Given the description of an element on the screen output the (x, y) to click on. 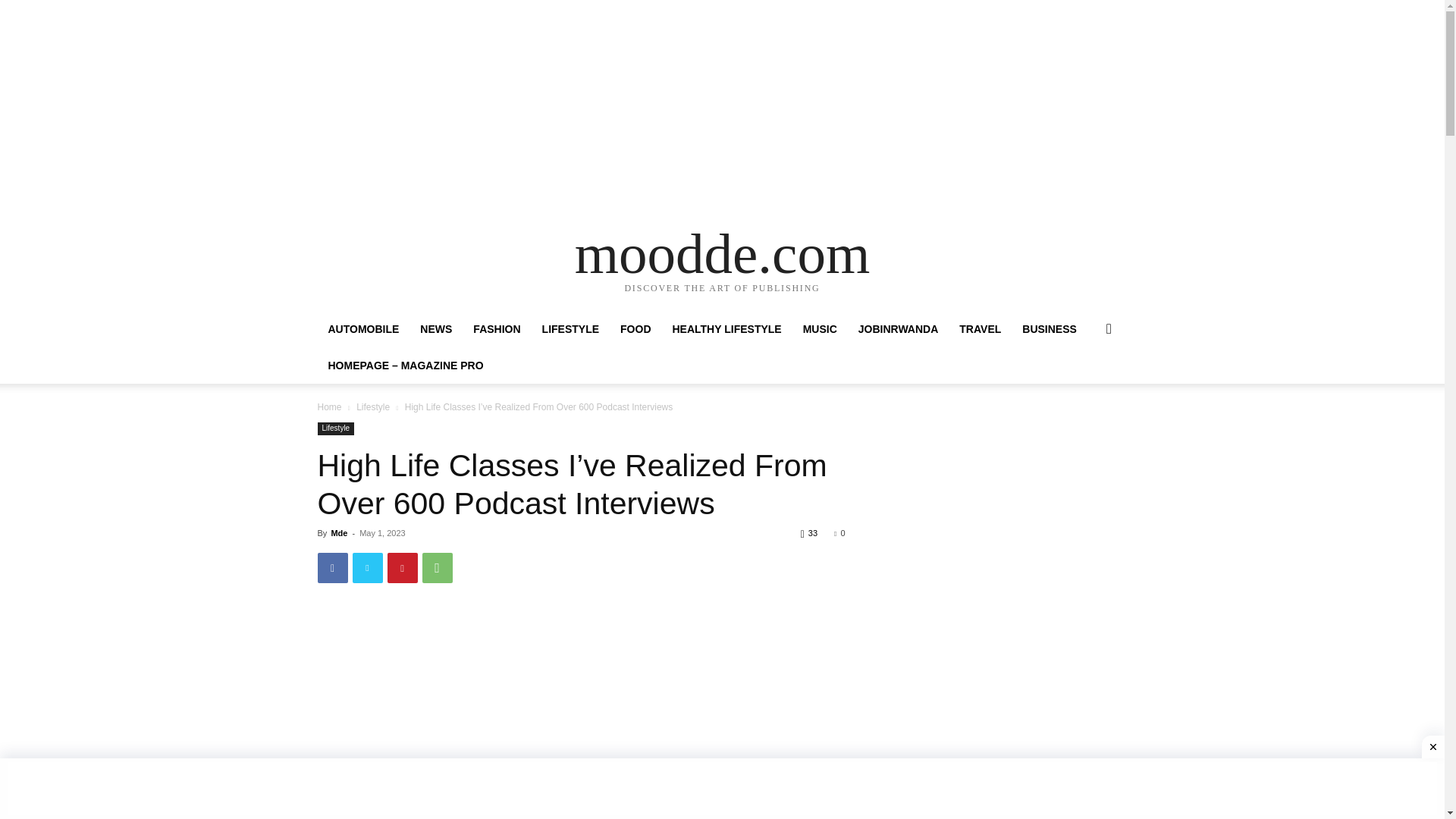
MUSIC (819, 329)
WhatsApp (436, 567)
LIFESTYLE (570, 329)
JOBINRWANDA (898, 329)
Search (1085, 389)
FOOD (635, 329)
NEWS (436, 329)
Lifestyle (373, 407)
FASHION (497, 329)
Advertisement (580, 676)
Facebook (332, 567)
Mde (338, 532)
0 (839, 532)
Lifestyle (335, 428)
